Given the description of an element on the screen output the (x, y) to click on. 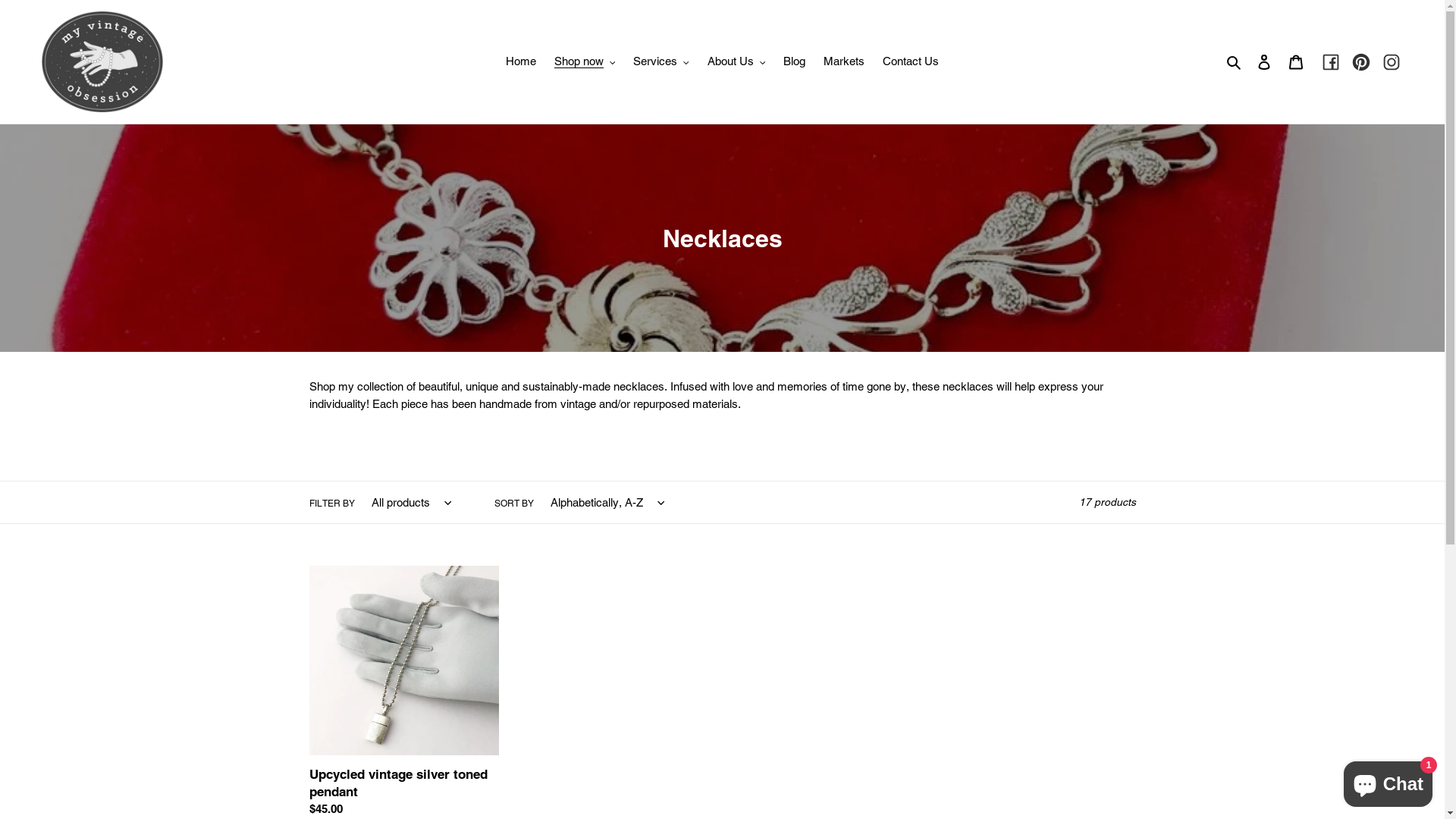
Services Element type: text (660, 61)
Home Element type: text (520, 61)
Shop now Element type: text (584, 61)
Cart Element type: text (1295, 61)
Log in Element type: text (1264, 61)
Shopify online store chat Element type: hover (1388, 780)
About Us Element type: text (736, 61)
Search Element type: text (1234, 61)
Markets Element type: text (843, 61)
Blog Element type: text (793, 61)
Contact Us Element type: text (910, 61)
